Given the description of an element on the screen output the (x, y) to click on. 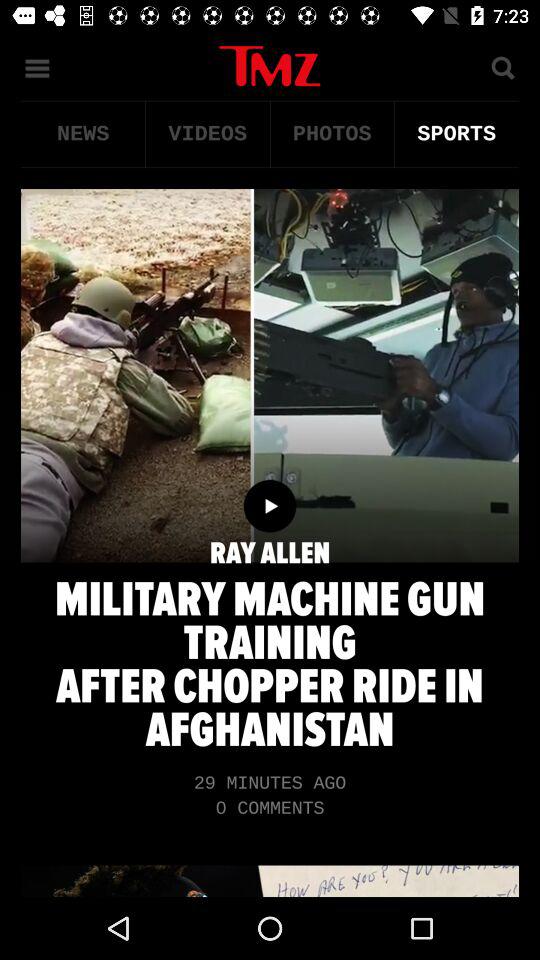
swipe to the photos item (332, 133)
